Given the description of an element on the screen output the (x, y) to click on. 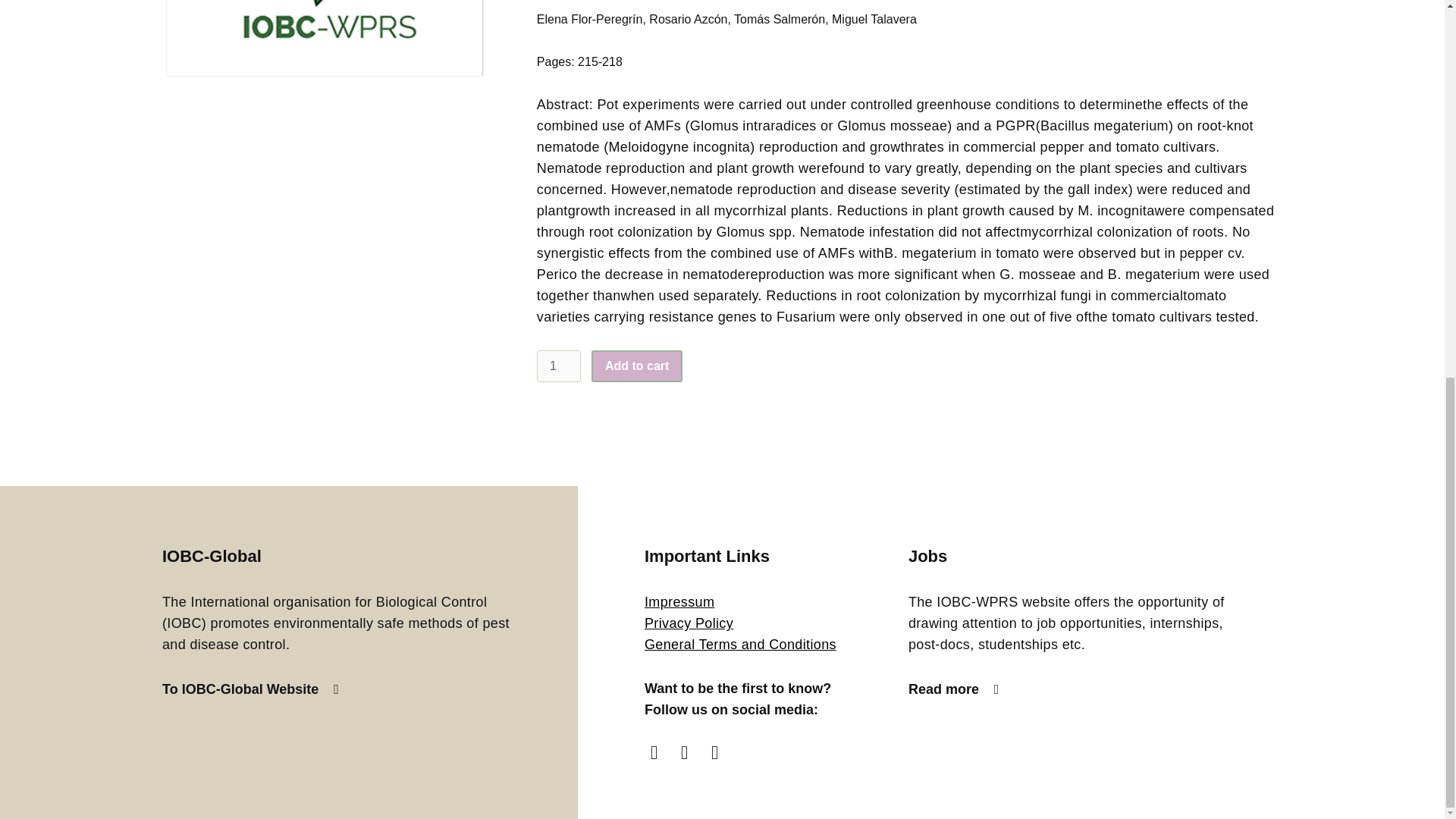
Qty (558, 366)
1 (558, 366)
